Given the description of an element on the screen output the (x, y) to click on. 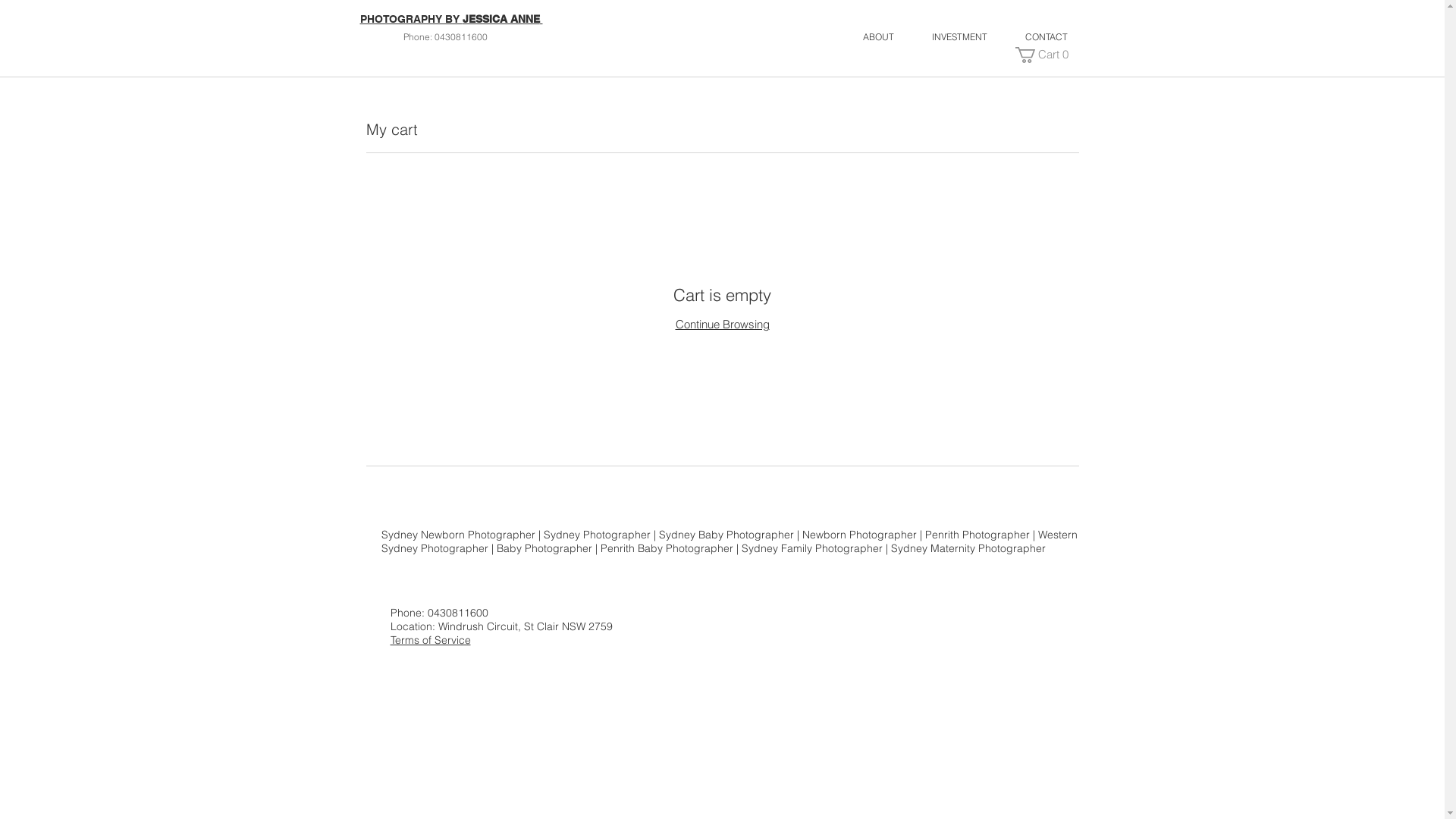
PHOTOGRAPHY BY JESSICA ANNE  Element type: text (450, 18)
CONTACT Element type: text (1045, 36)
Continue Browsing Element type: text (721, 323)
ABOUT Element type: text (877, 36)
INVESTMENT Element type: text (959, 36)
Cart
0 Element type: text (1044, 54)
Terms of Service Element type: text (429, 639)
